Given the description of an element on the screen output the (x, y) to click on. 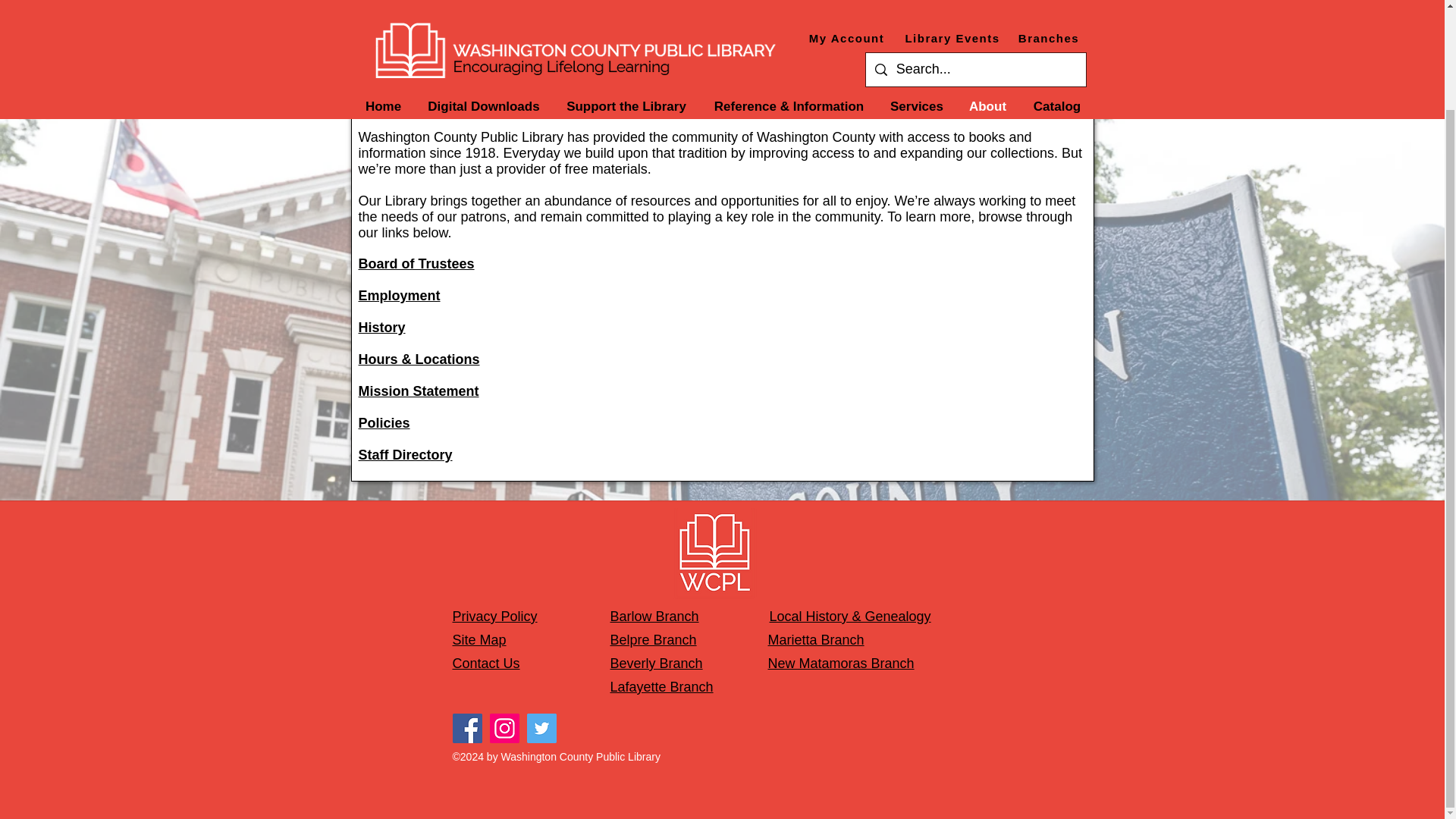
Home (383, 1)
About (987, 1)
Digital Downloads (483, 1)
Services (916, 1)
Support the Library (625, 1)
